Given the description of an element on the screen output the (x, y) to click on. 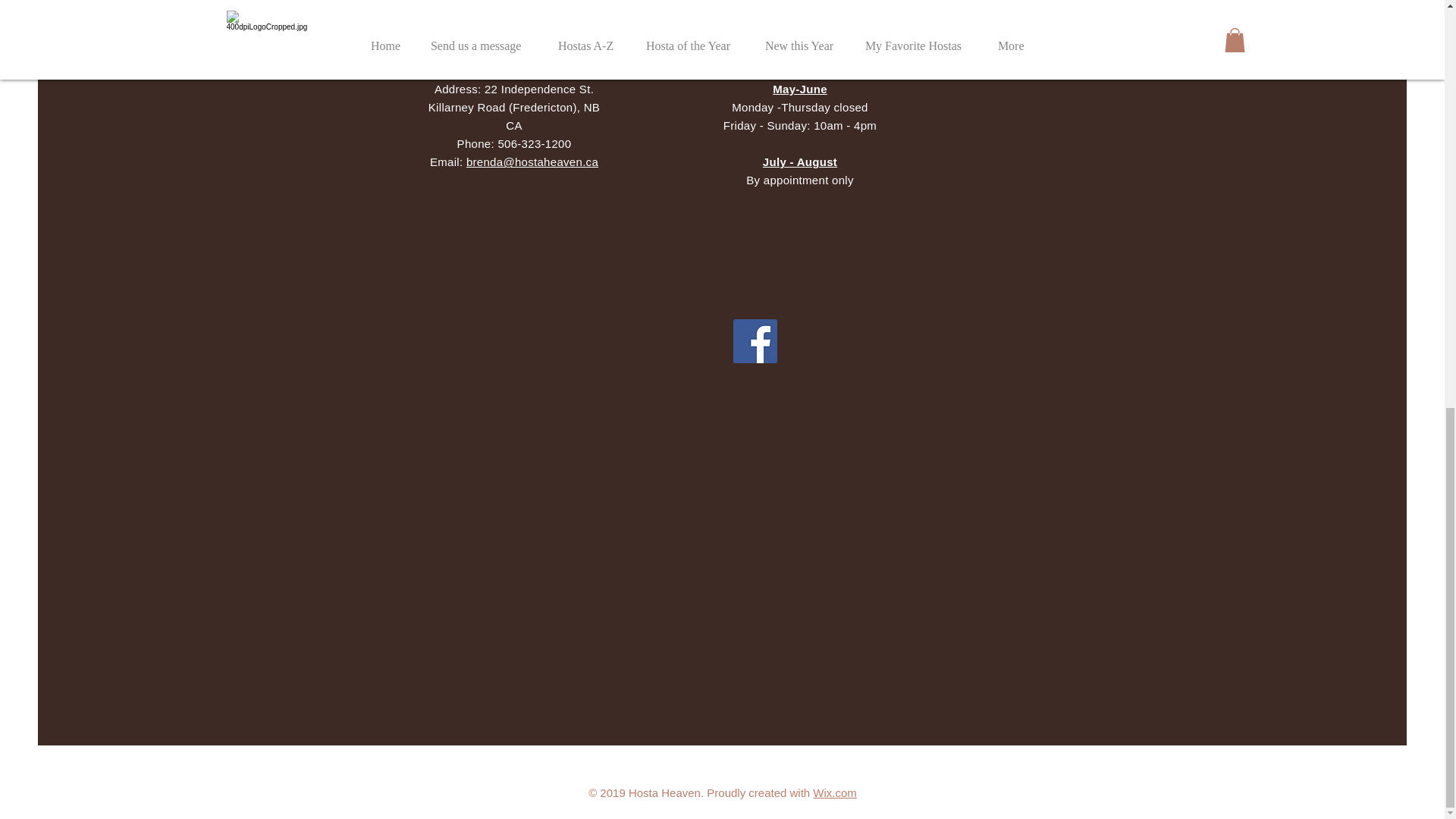
Wix.com (799, 115)
